Given the description of an element on the screen output the (x, y) to click on. 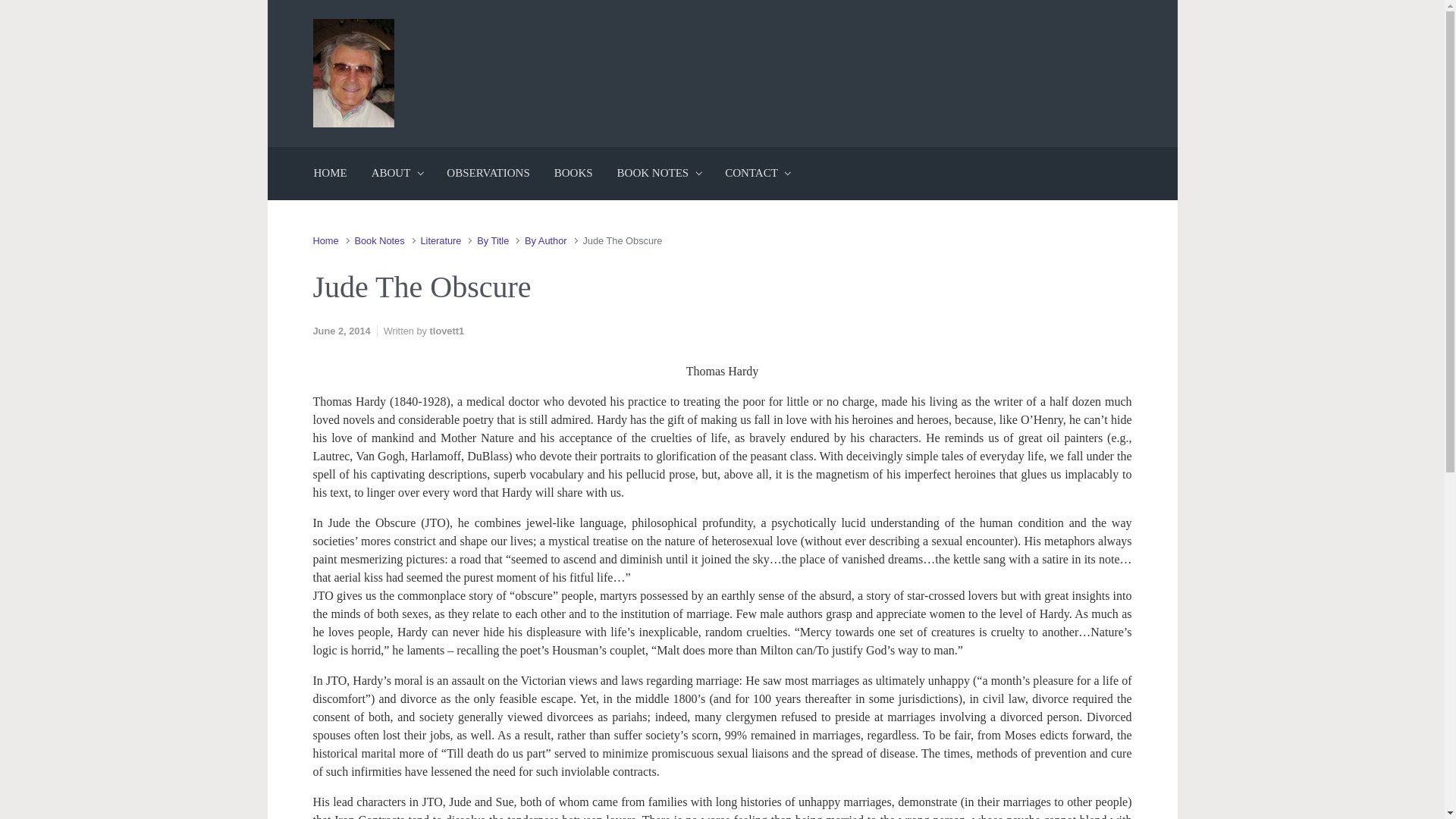
By Title (492, 240)
Literature (440, 240)
View all posts by tlovett1 (446, 330)
By Author (545, 240)
Book Notes (378, 240)
